Given the description of an element on the screen output the (x, y) to click on. 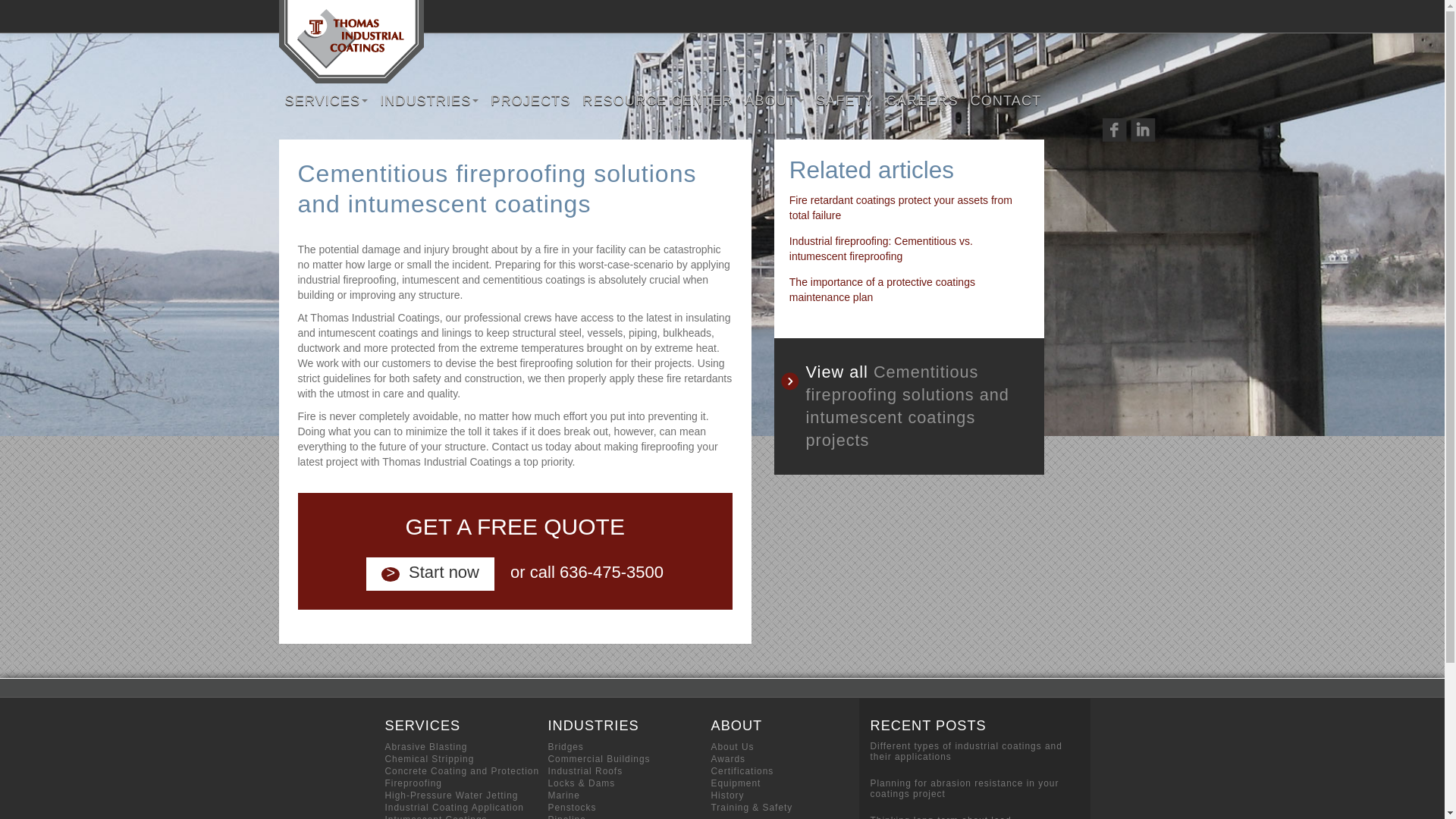
RESOURCE CENTER (657, 99)
Home (351, 41)
SERVICES (326, 99)
ABOUT (773, 99)
INDUSTRIES (429, 99)
PROJECTS (530, 99)
SAFETY (844, 99)
